Given the description of an element on the screen output the (x, y) to click on. 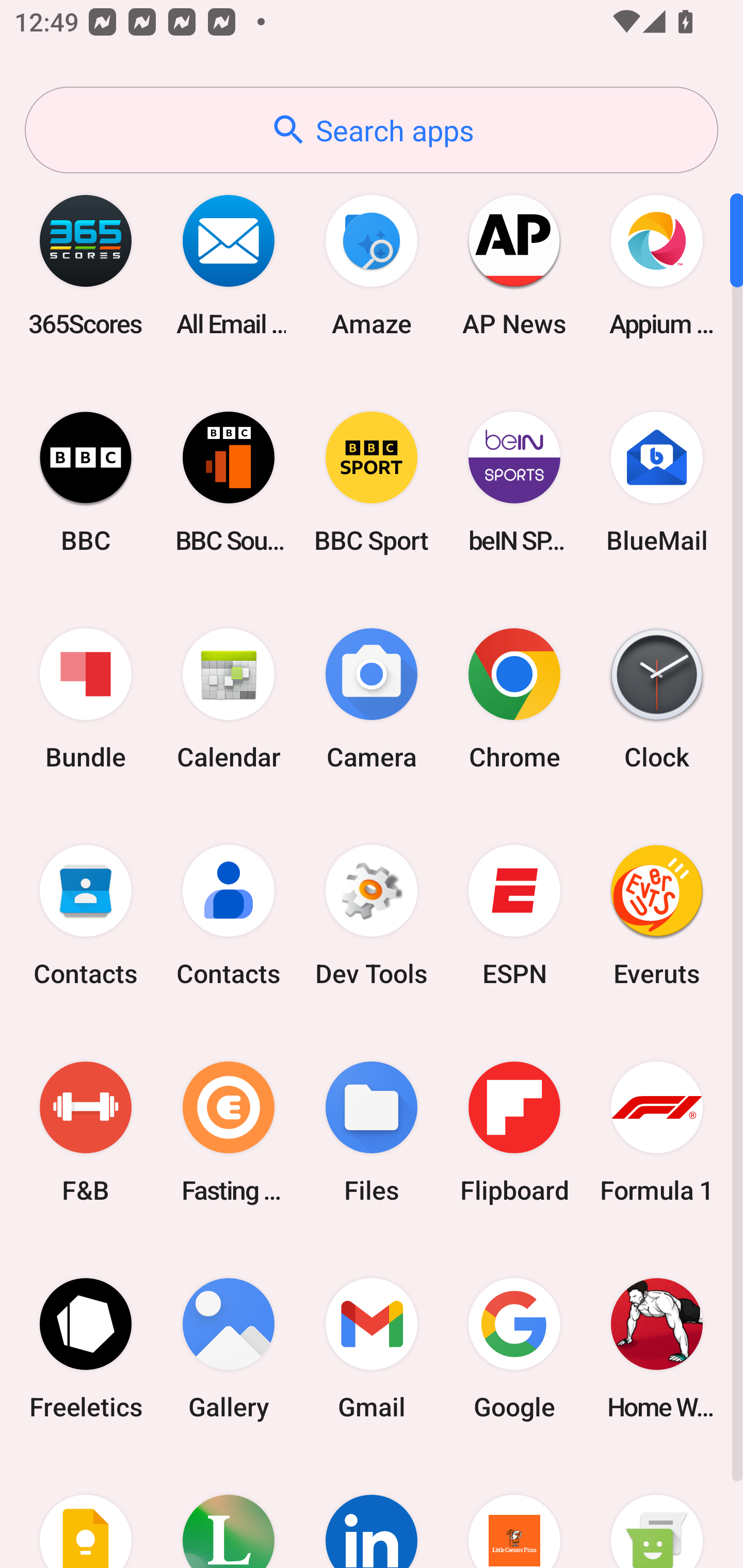
  Search apps (371, 130)
365Scores (85, 264)
All Email Connect (228, 264)
Amaze (371, 264)
AP News (514, 264)
Appium Settings (656, 264)
BBC (85, 482)
BBC Sounds (228, 482)
BBC Sport (371, 482)
beIN SPORTS (514, 482)
BlueMail (656, 482)
Bundle (85, 699)
Calendar (228, 699)
Camera (371, 699)
Chrome (514, 699)
Clock (656, 699)
Contacts (85, 915)
Contacts (228, 915)
Dev Tools (371, 915)
ESPN (514, 915)
Everuts (656, 915)
F&B (85, 1131)
Fasting Coach (228, 1131)
Files (371, 1131)
Flipboard (514, 1131)
Formula 1 (656, 1131)
Freeletics (85, 1348)
Gallery (228, 1348)
Gmail (371, 1348)
Google (514, 1348)
Home Workout (656, 1348)
Keep Notes (85, 1512)
Lifesum (228, 1512)
LinkedIn (371, 1512)
Little Caesars Pizza (514, 1512)
Messaging (656, 1512)
